Given the description of an element on the screen output the (x, y) to click on. 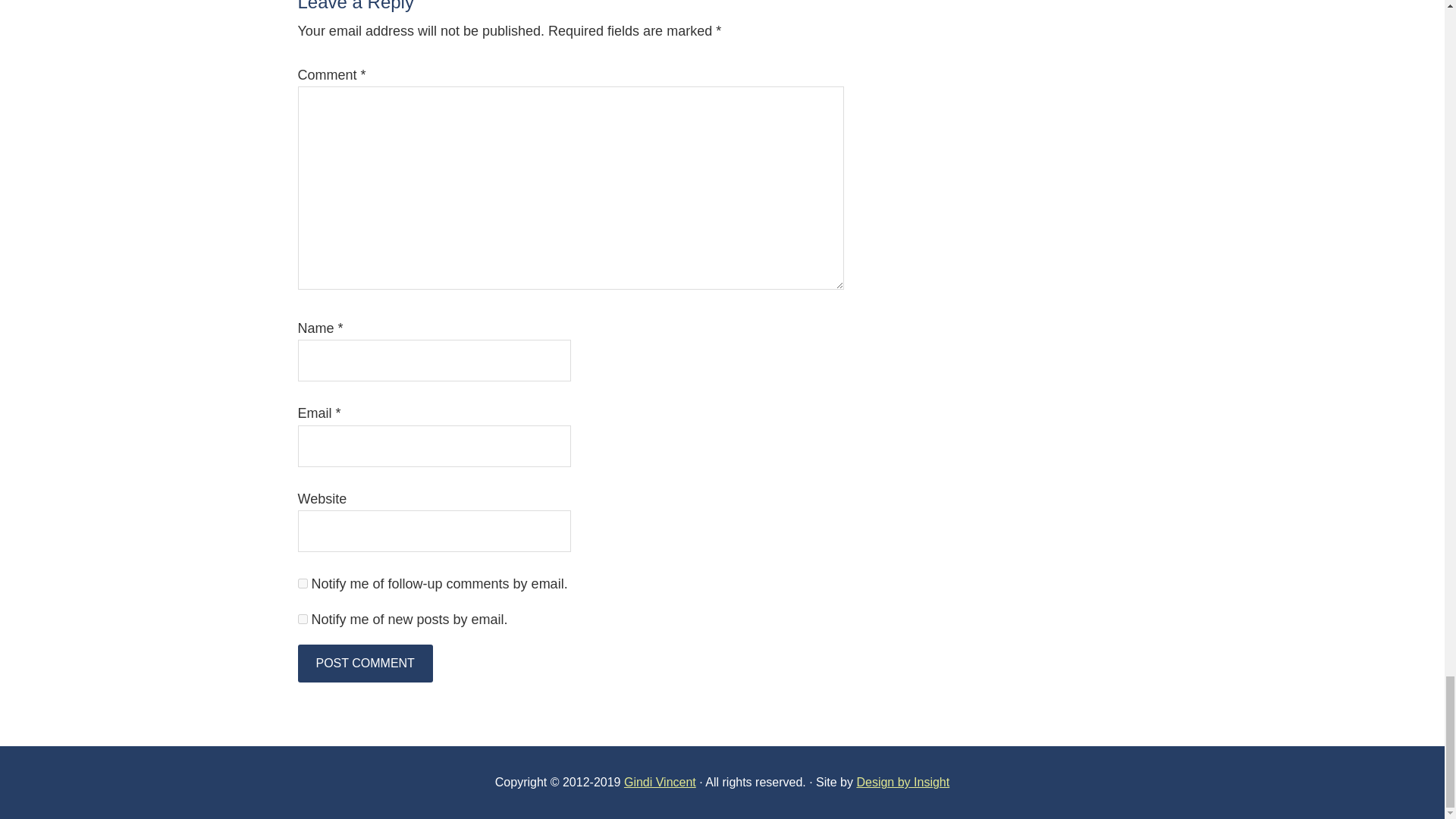
subscribe (302, 583)
Post Comment (364, 663)
subscribe (302, 619)
Post Comment (364, 663)
